Given the description of an element on the screen output the (x, y) to click on. 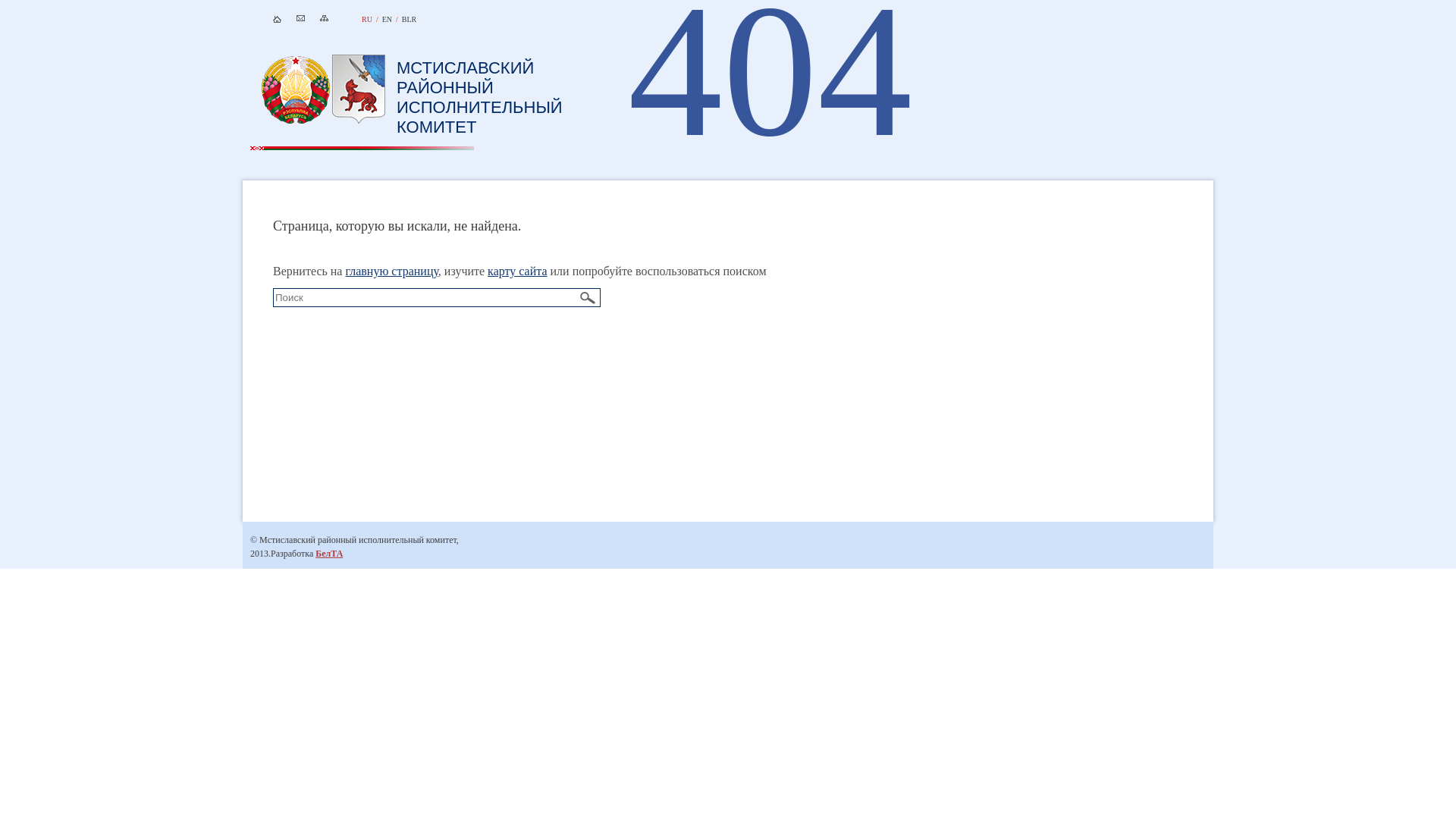
EN Element type: text (387, 19)
BLR Element type: text (408, 19)
